Given the description of an element on the screen output the (x, y) to click on. 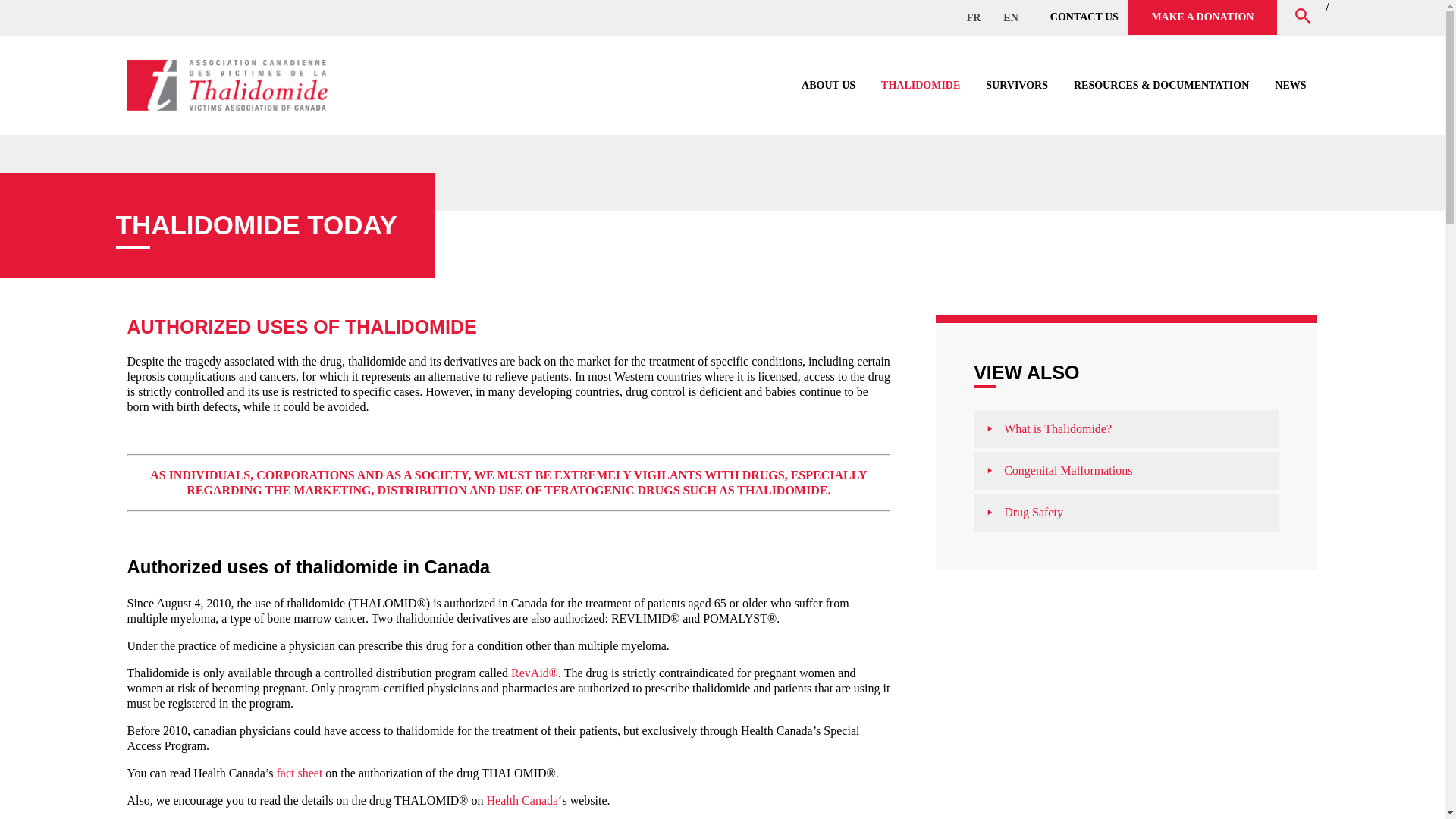
MAKE A DONATION (1202, 17)
CONTACT US (1083, 16)
ABOUT US (828, 85)
FR (973, 17)
EN (1010, 17)
